Given the description of an element on the screen output the (x, y) to click on. 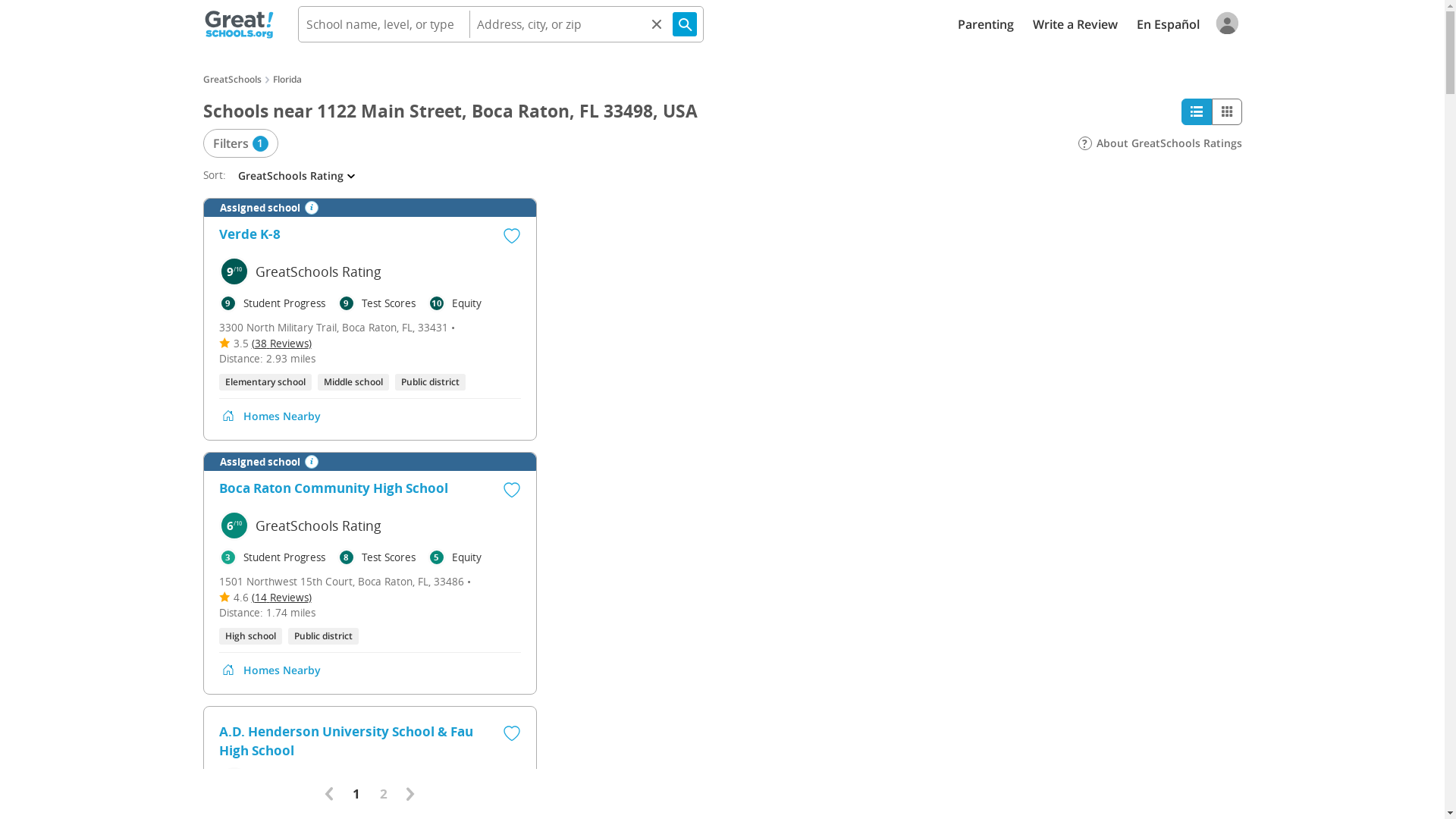
Homes Nearby Element type: text (281, 669)
(14 Reviews) Element type: text (281, 596)
Filters
1 Element type: text (240, 142)
Verde K-8 Element type: text (248, 236)
Parenting Element type: text (984, 24)
Boca Raton Community High School Element type: text (332, 490)
GreatSchools Element type: text (232, 78)
1 Element type: text (356, 793)
Homes Nearby Element type: text (281, 415)
Florida Element type: text (287, 78)
(38 Reviews) Element type: text (281, 342)
2 Element type: text (383, 793)
Write a Review Element type: text (1075, 24)
A.D. Henderson University School & Fau High School Element type: text (349, 740)
